Given the description of an element on the screen output the (x, y) to click on. 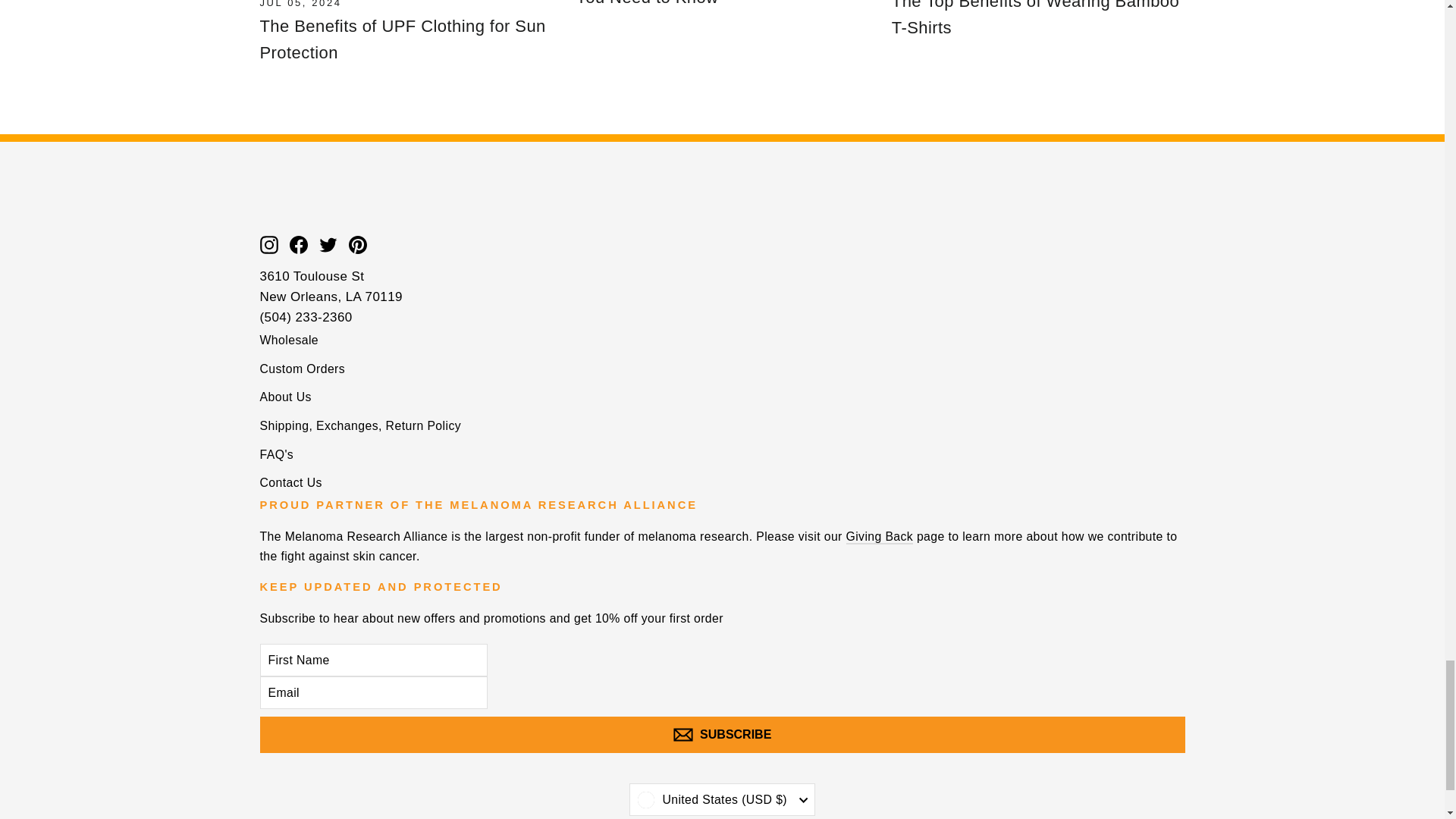
Rayward Apparel on Facebook (298, 244)
Rayward Apparel on Twitter (327, 244)
twitter (327, 244)
Rayward Apparel on Pinterest (357, 244)
Giving Back (879, 536)
ICON-EMAIL (682, 734)
instagram (268, 244)
